Given the description of an element on the screen output the (x, y) to click on. 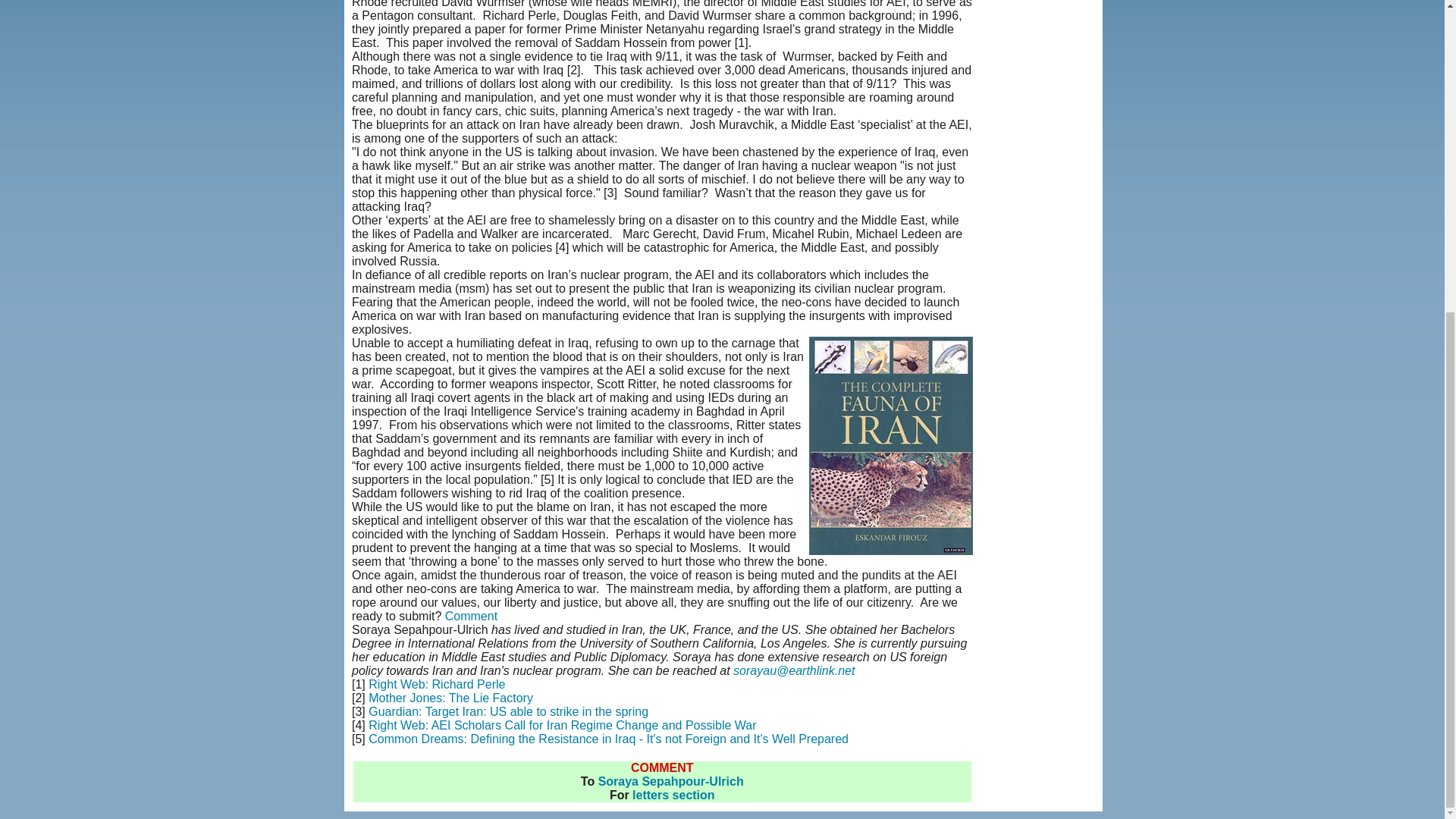
Soraya Sepahpour-Ulrich (671, 780)
Right Web: Richard Perle (436, 684)
Guardian: Target Iran: US able to strike in the spring (507, 711)
Mother Jones: The Lie Factory (450, 697)
Comment (471, 615)
letters section (672, 794)
